Given the description of an element on the screen output the (x, y) to click on. 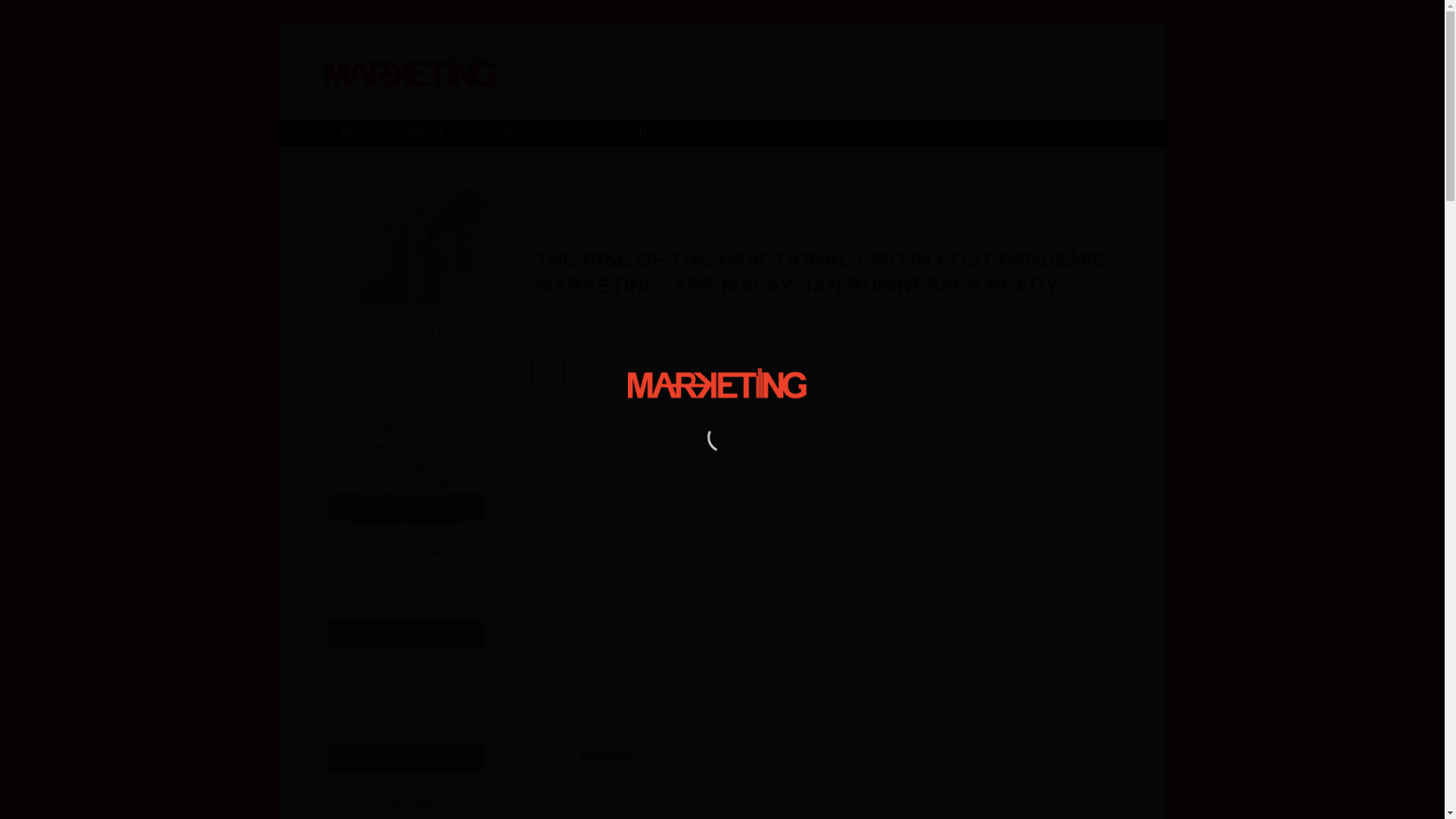
AWARDS (418, 133)
TRAINING (488, 133)
NEWS (354, 133)
PUBLICATIONS (577, 133)
